Given the description of an element on the screen output the (x, y) to click on. 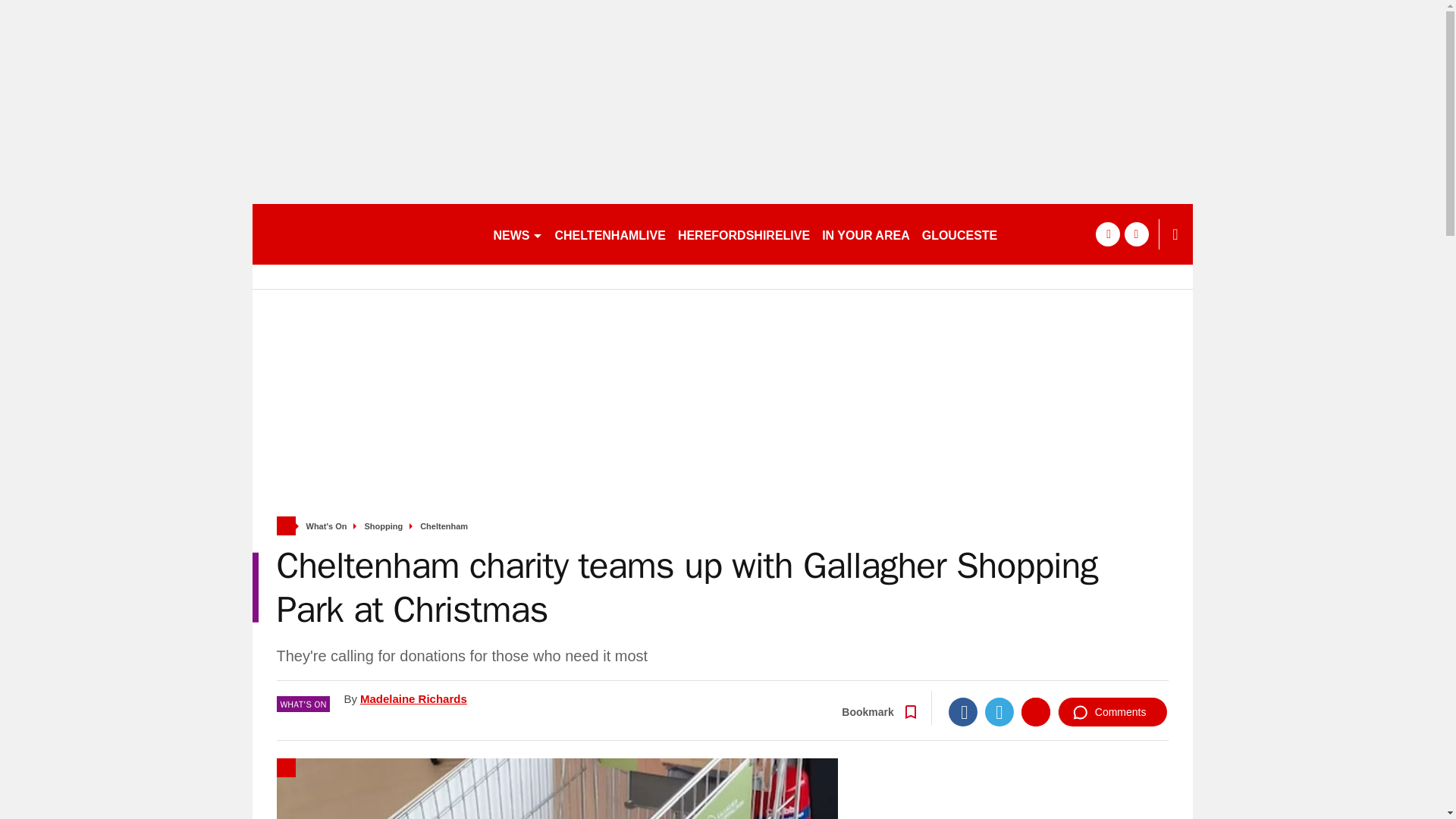
twitter (1136, 233)
Comments (1112, 711)
Twitter (999, 711)
NEWS (517, 233)
HEREFORDSHIRELIVE (743, 233)
facebook (1106, 233)
Facebook (962, 711)
IN YOUR AREA (865, 233)
GLOUCESTER NEWS (983, 233)
gloucestershirelive (365, 233)
